Given the description of an element on the screen output the (x, y) to click on. 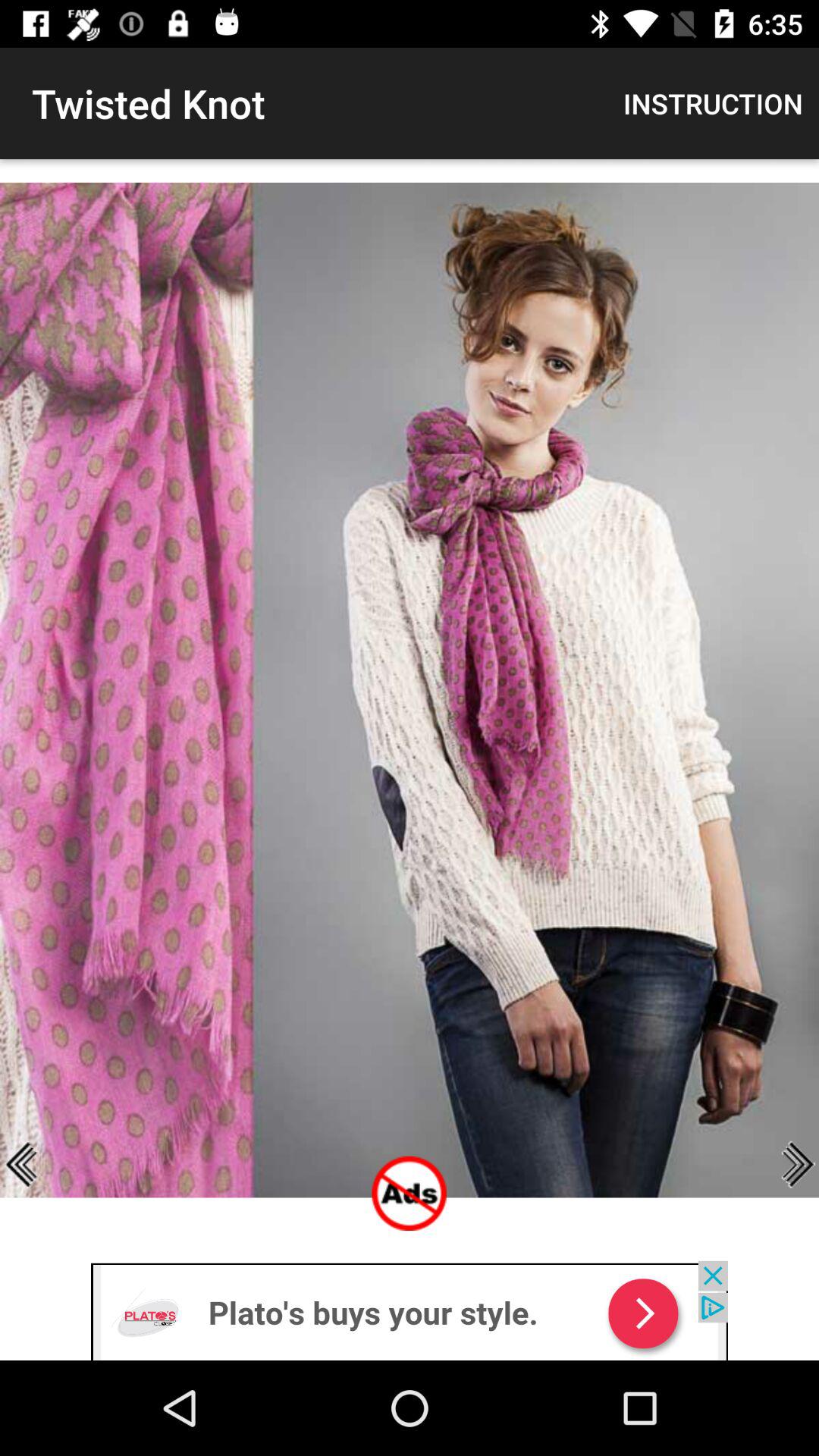
press item to the right of the twisted knot icon (713, 103)
